Given the description of an element on the screen output the (x, y) to click on. 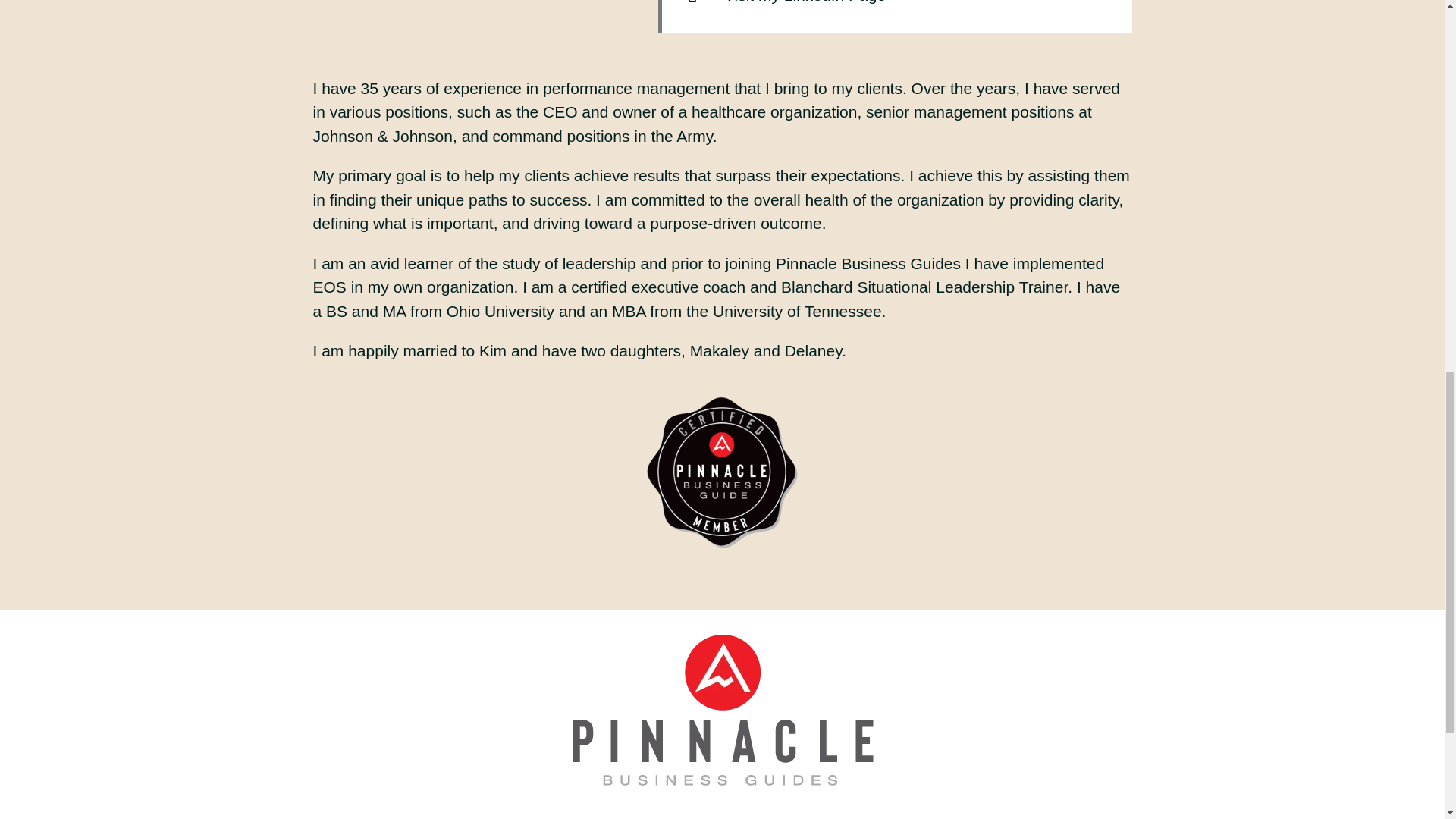
Pinnacle-Emblem-Member (721, 471)
Pinnacle-Logo-web (721, 708)
